Given the description of an element on the screen output the (x, y) to click on. 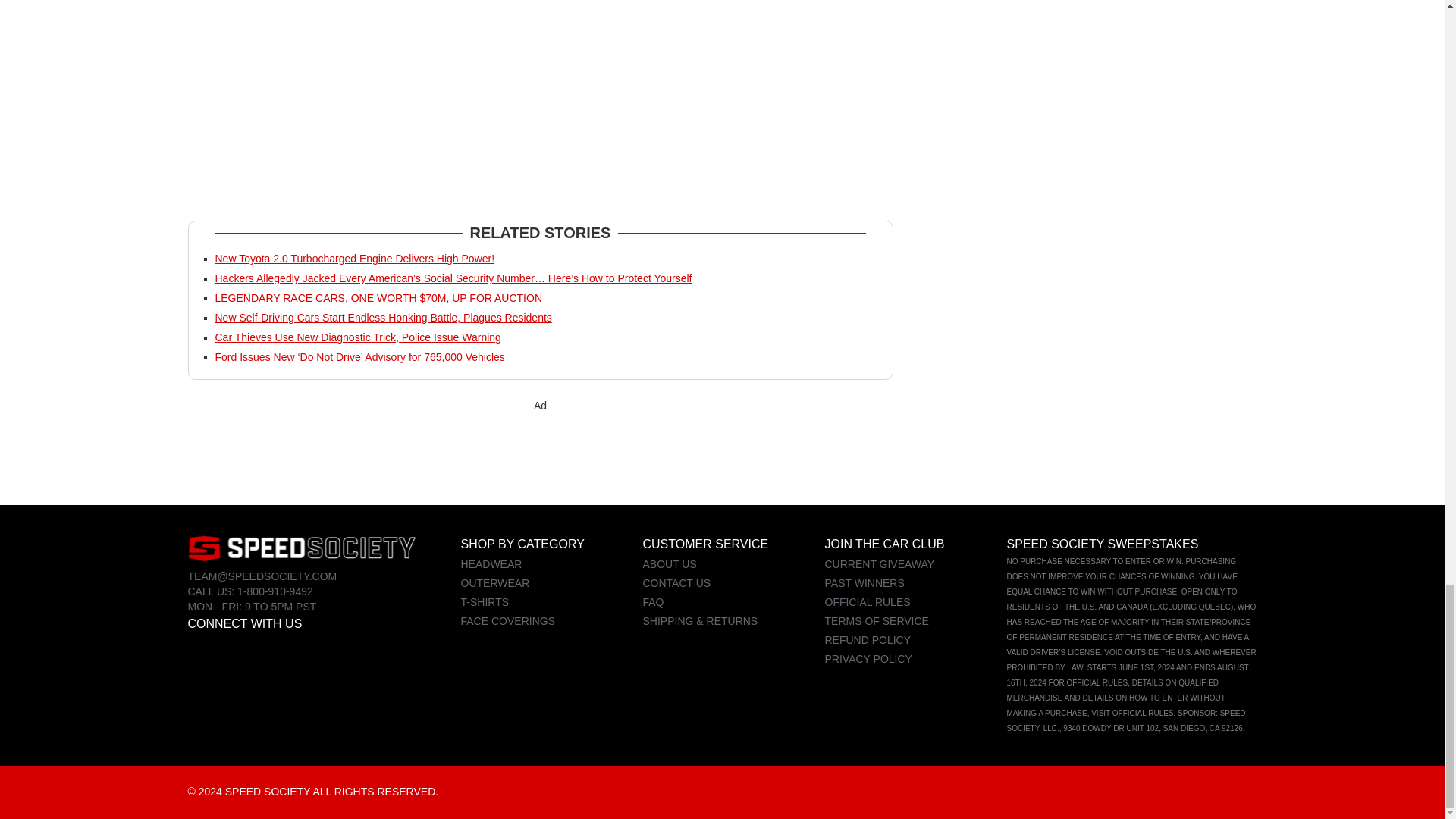
New Toyota 2.0 Turbocharged Engine Delivers High Power! (355, 258)
footer logo (300, 548)
